Given the description of an element on the screen output the (x, y) to click on. 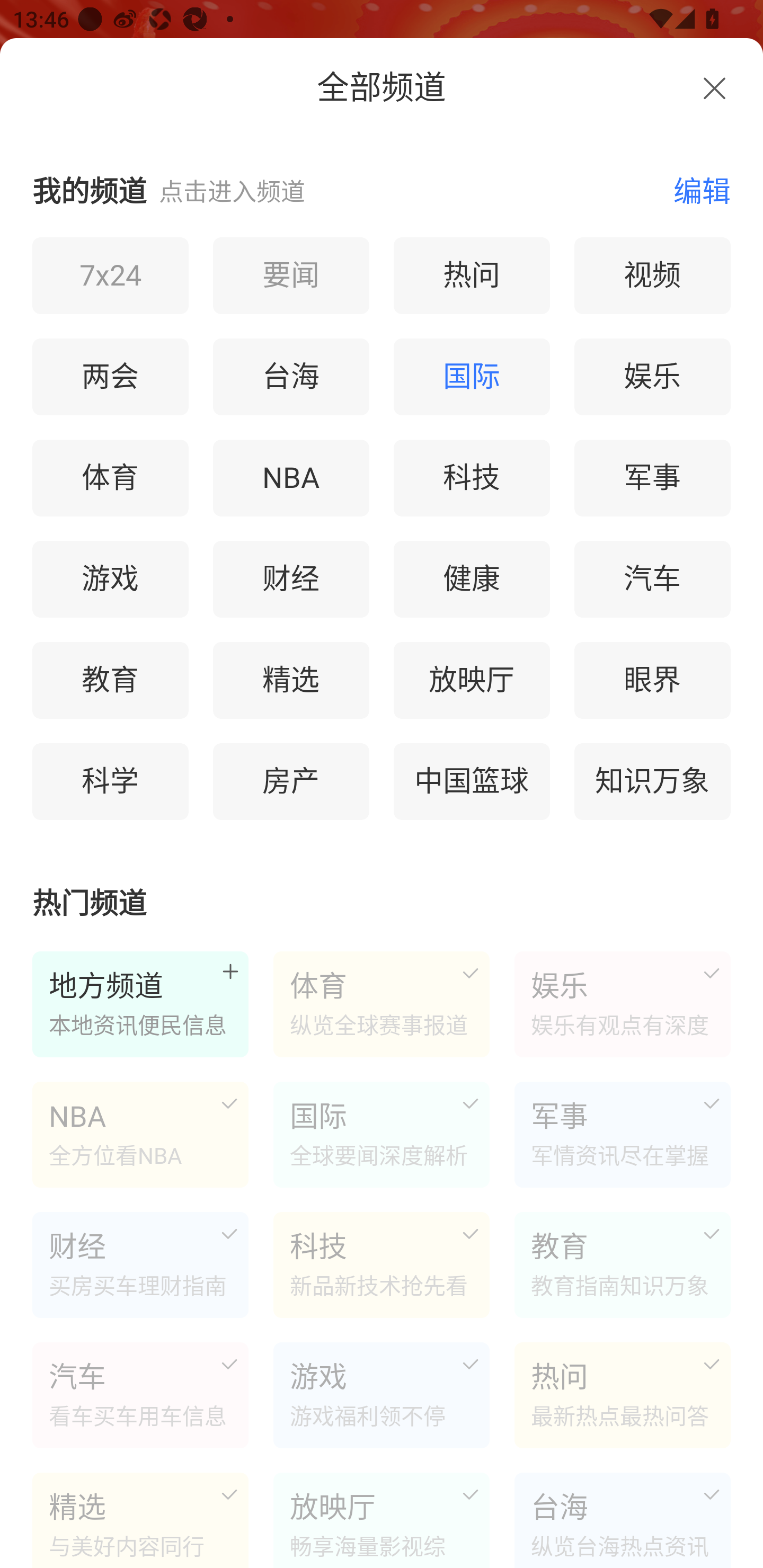
 (714, 87)
编辑 (691, 190)
